Given the description of an element on the screen output the (x, y) to click on. 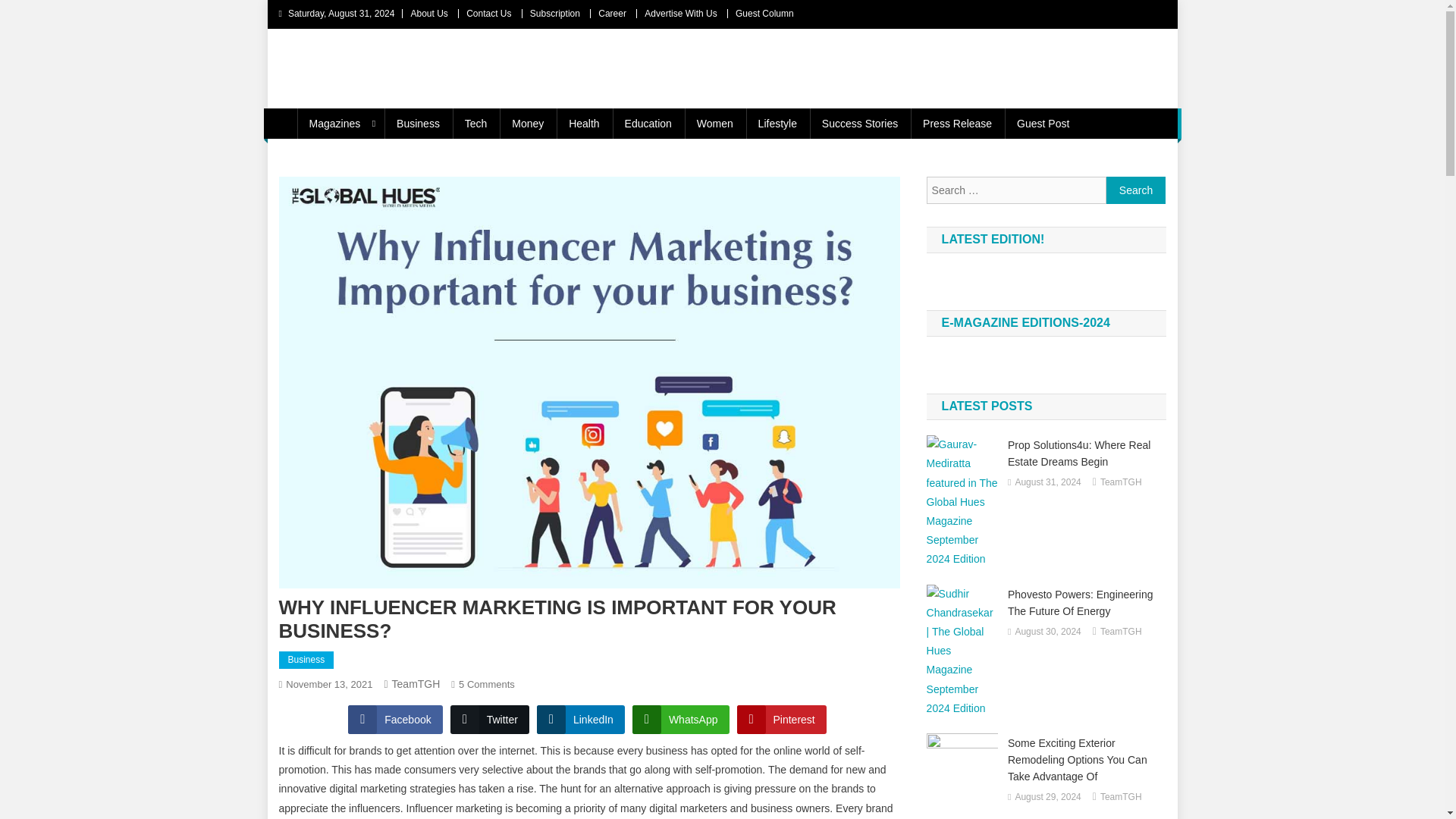
Lifestyle (777, 123)
Advertise With Us (680, 13)
TeamTGH (416, 684)
Health (583, 123)
Education (648, 123)
Career (612, 13)
Facebook (394, 719)
Business (306, 660)
Guest Column (764, 13)
Search (1136, 189)
